Given the description of an element on the screen output the (x, y) to click on. 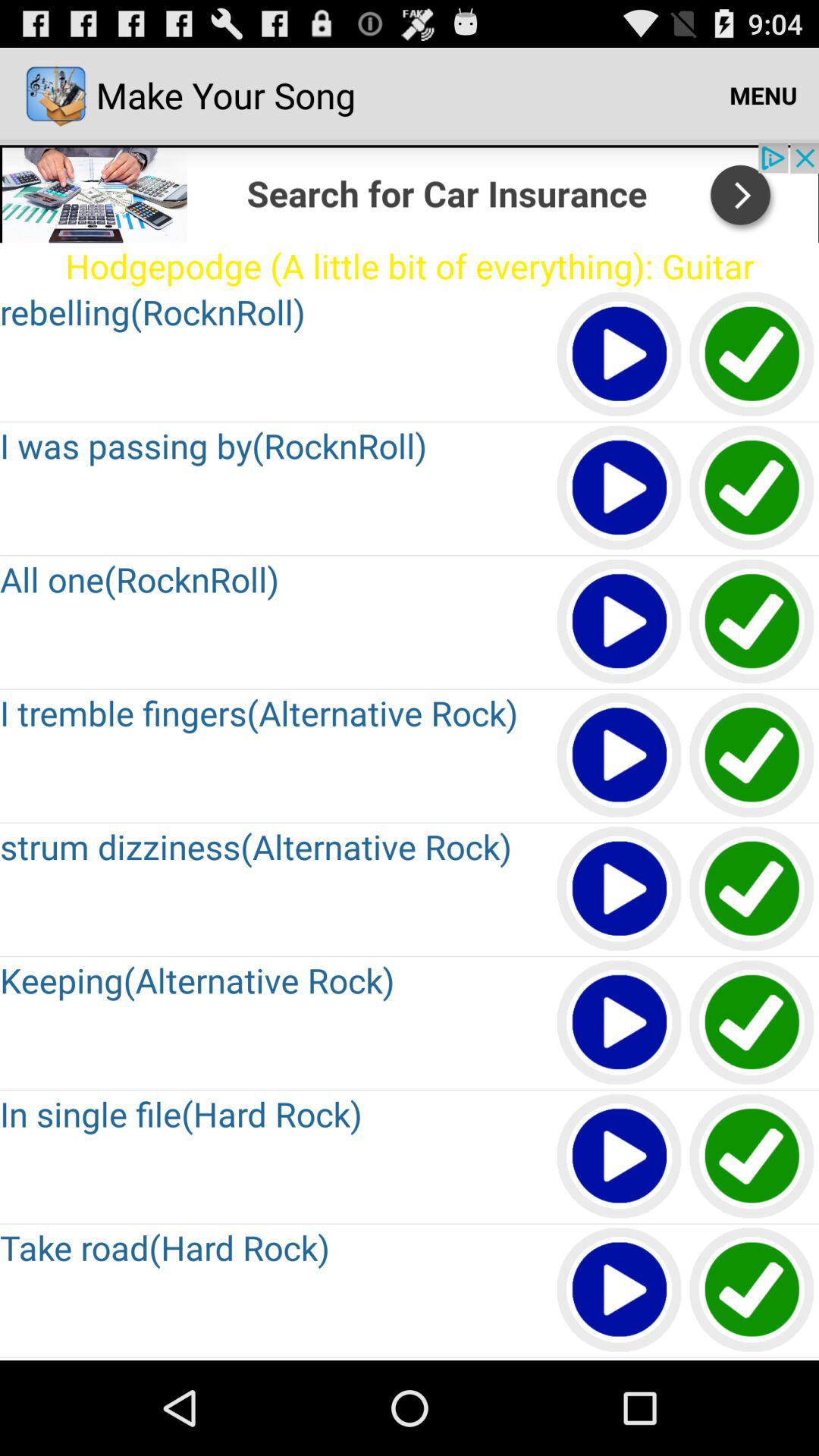
song play option (619, 354)
